Given the description of an element on the screen output the (x, y) to click on. 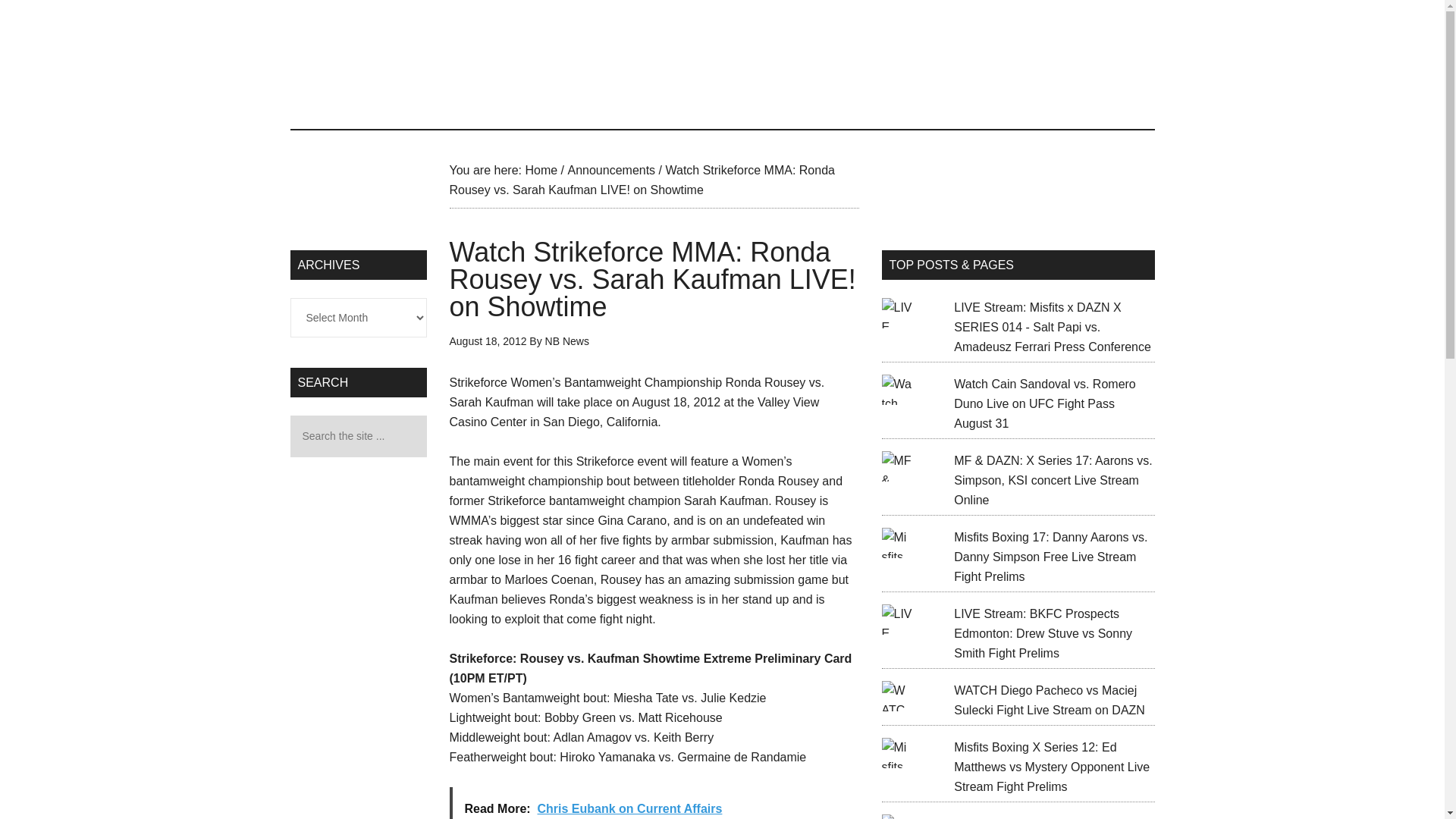
NB News (566, 340)
Read More:  Chris Eubank on Current Affairs (653, 803)
